Given the description of an element on the screen output the (x, y) to click on. 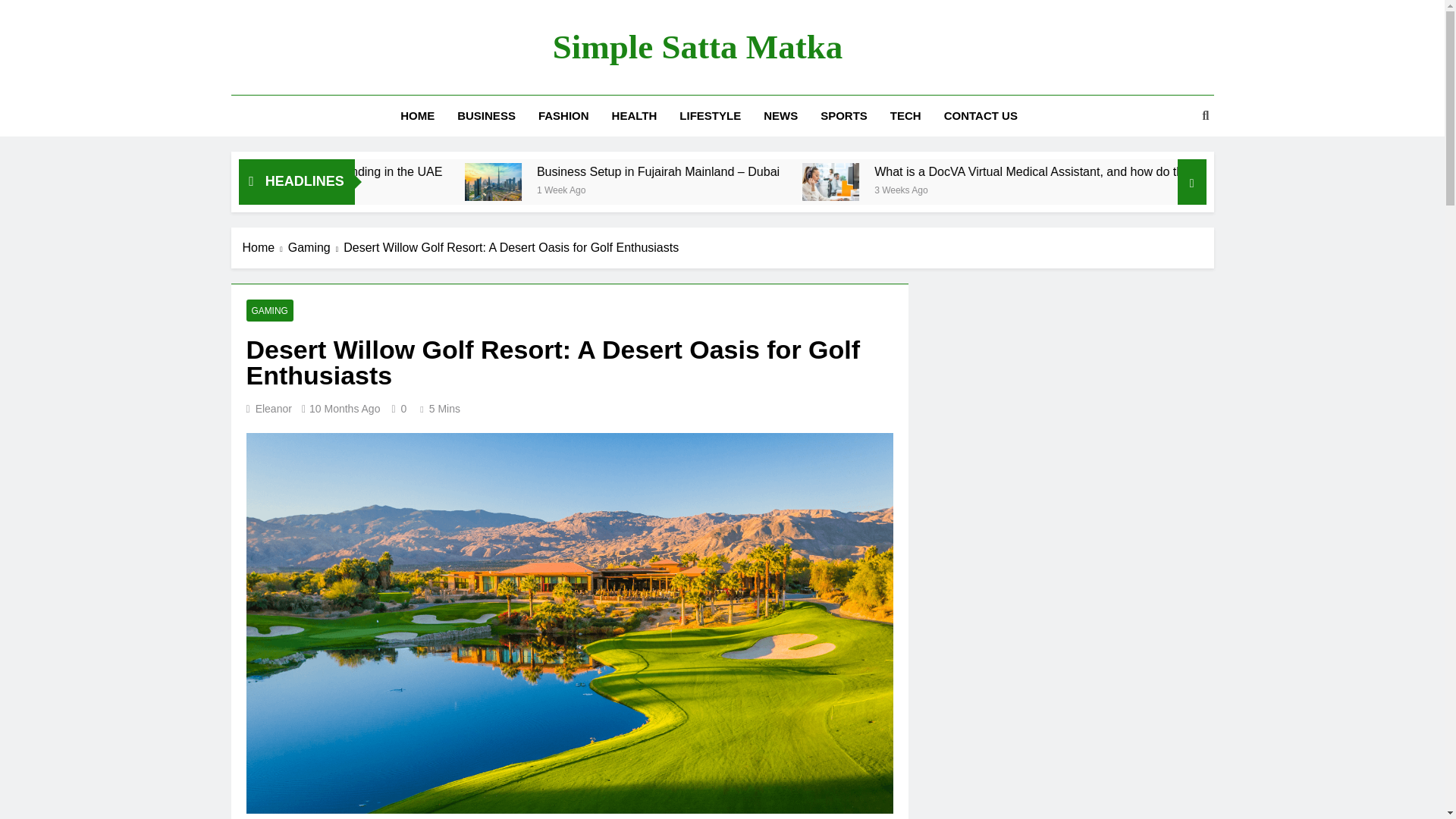
CONTACT US (981, 115)
LIFESTYLE (710, 115)
BUSINESS (486, 115)
NEWS (780, 115)
1 Week Ago (829, 188)
HOME (416, 115)
HEALTH (633, 115)
FASHION (563, 115)
